Given the description of an element on the screen output the (x, y) to click on. 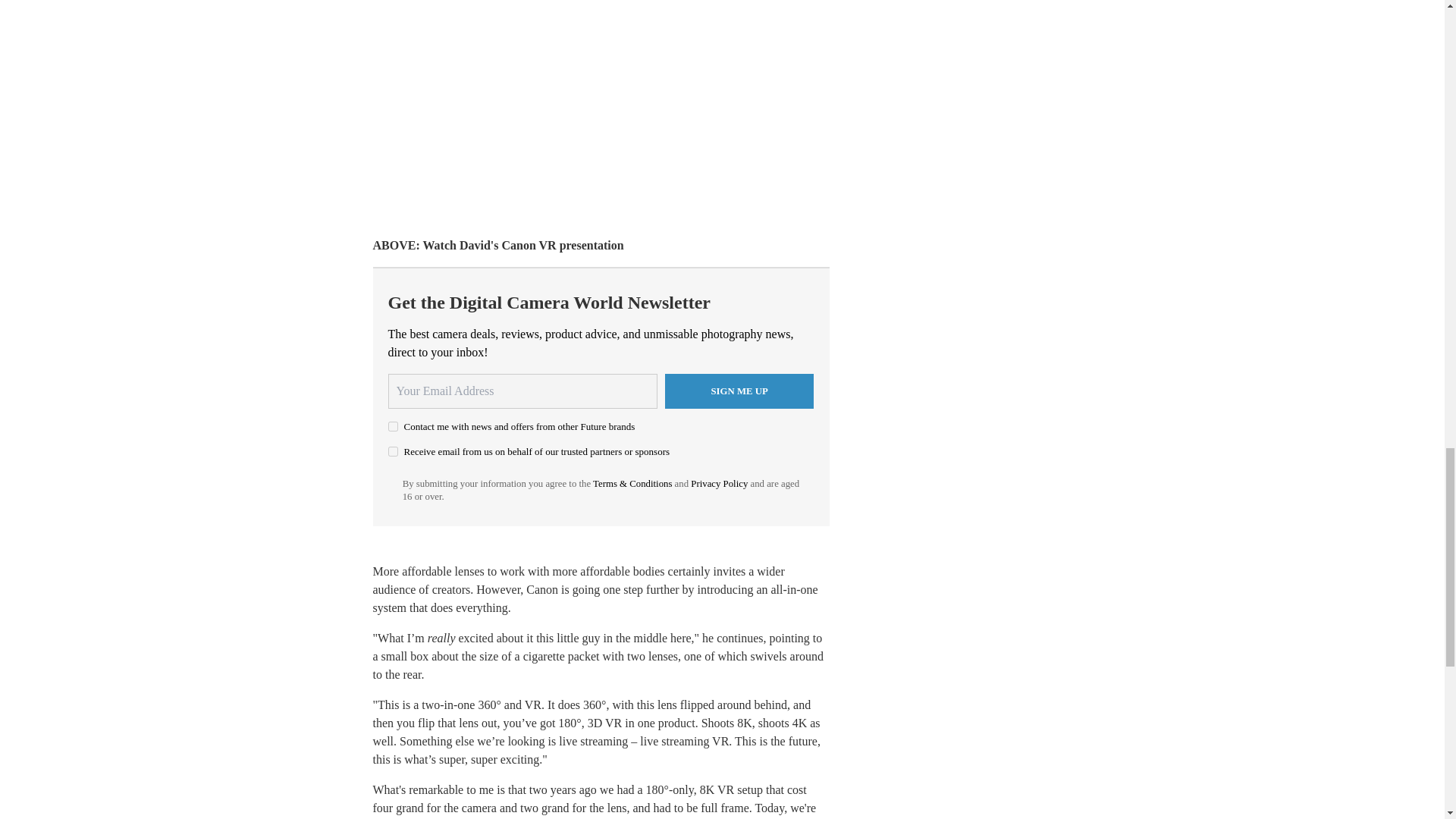
on (392, 426)
on (392, 451)
Sign me up (739, 390)
